Given the description of an element on the screen output the (x, y) to click on. 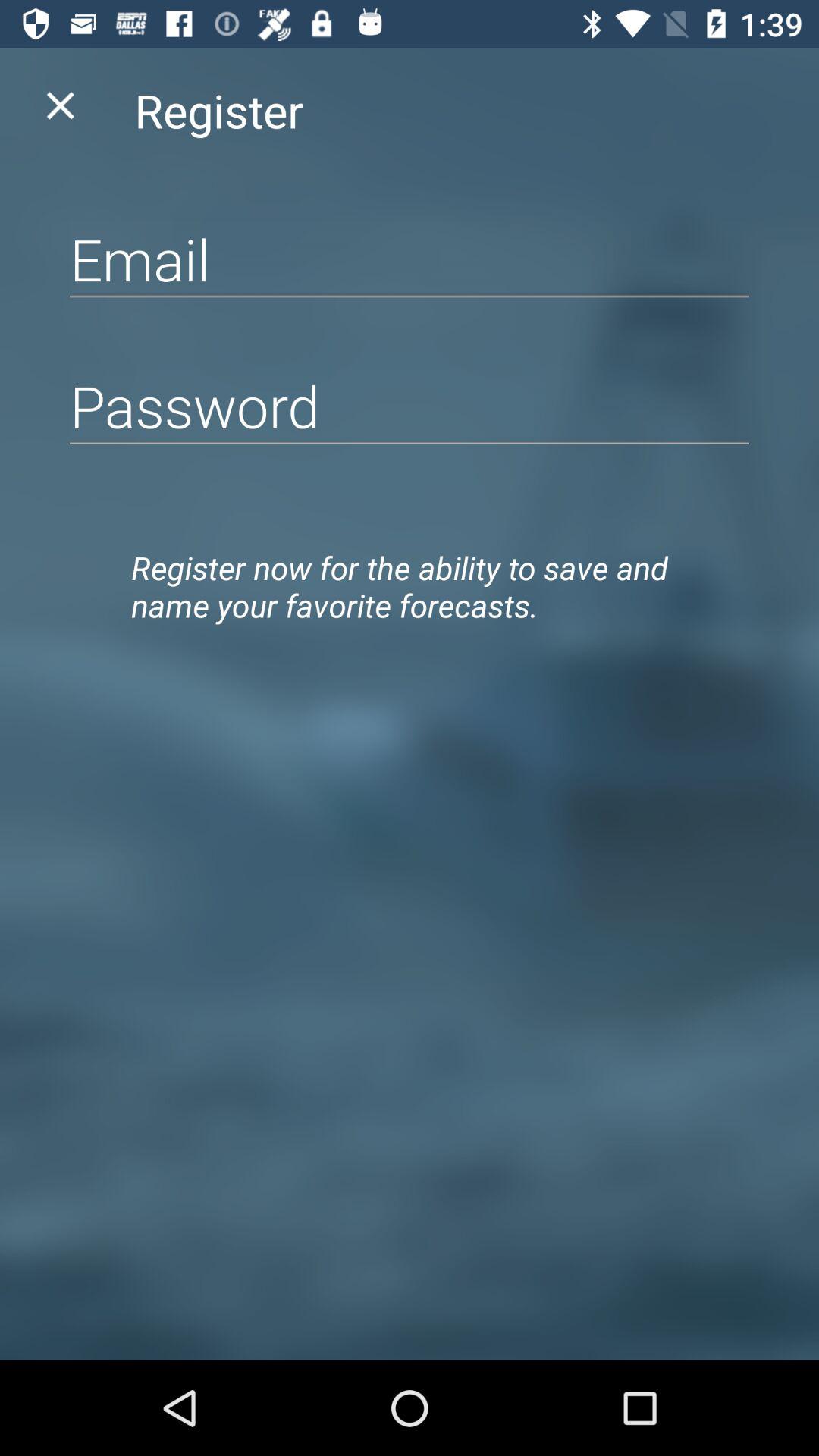
enter email (409, 258)
